Given the description of an element on the screen output the (x, y) to click on. 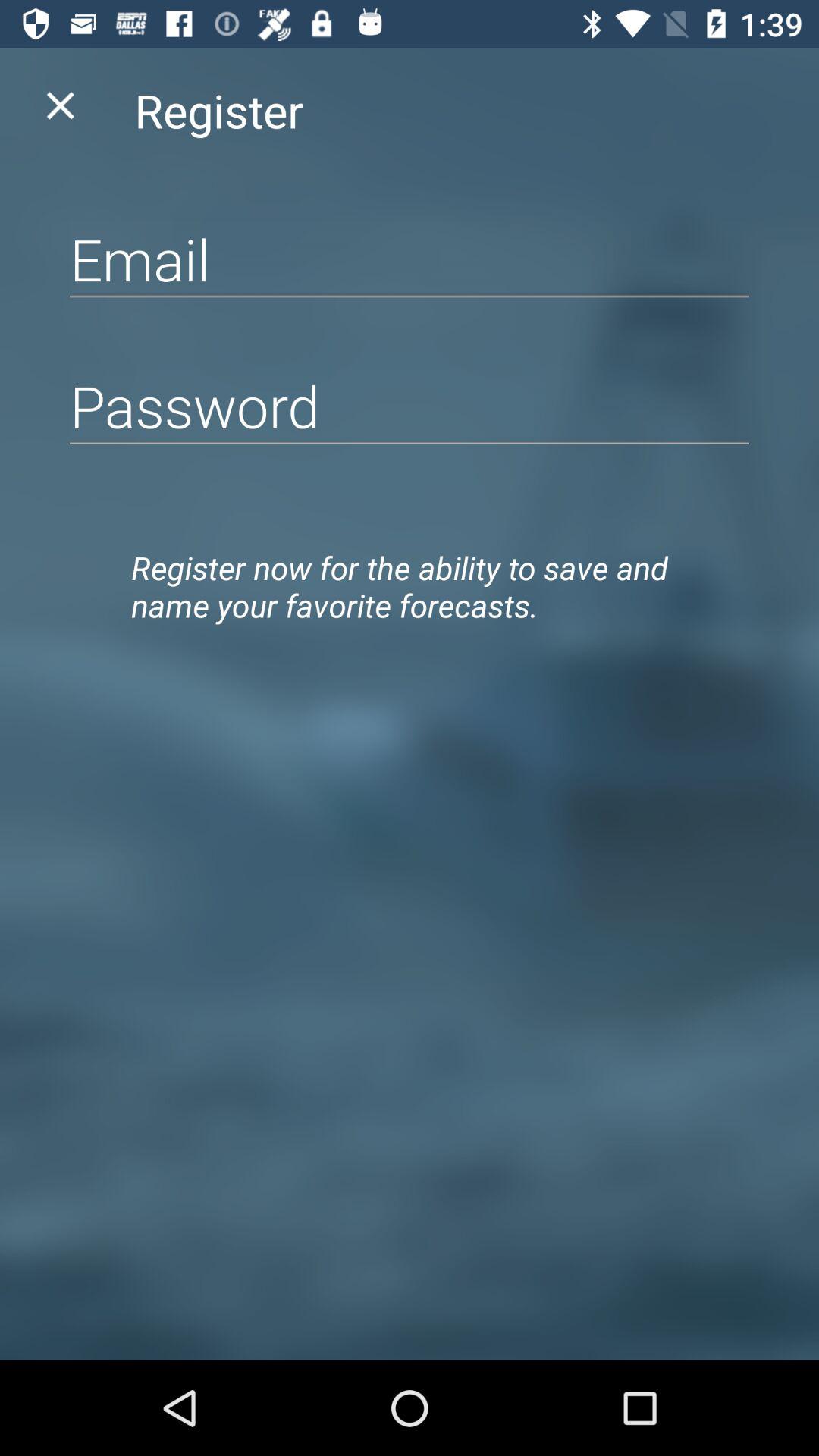
enter email (409, 258)
